Given the description of an element on the screen output the (x, y) to click on. 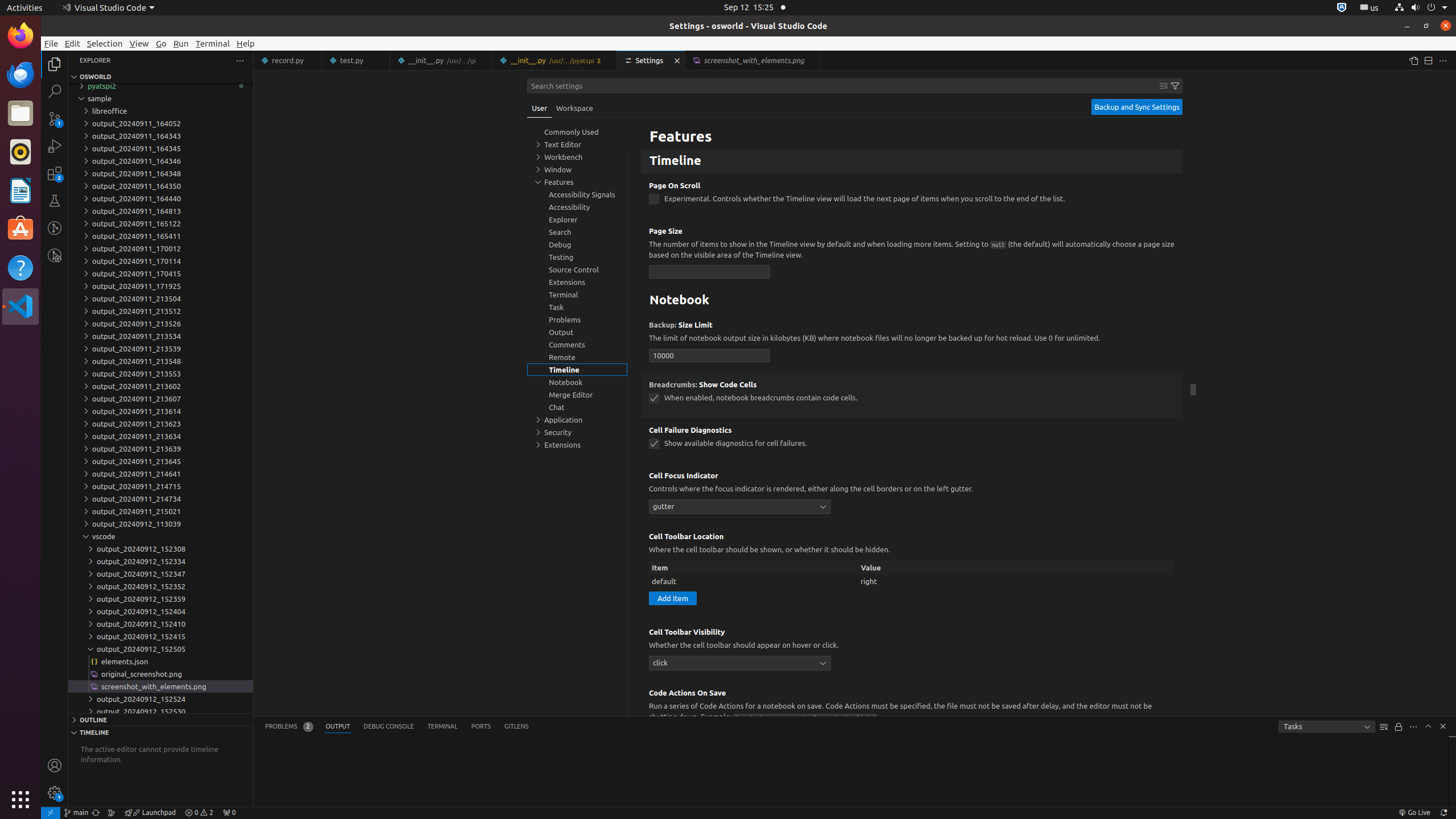
Tunnels › Access Prevent Sleep. Setting value retained when switching profiles. Prevent this computer from sleeping when remote tunnel access is turned on.  Element type: tree-item (911, 126)
rocket gitlens-unplug Launchpad, GitLens Launchpad ᴘʀᴇᴠɪᴇᴡ    &mdash;    [$(question)](command:gitlens.launchpad.indicator.action?%22info%22 "What is this?") [$(gear)](command:workbench.action.openSettings?%22gitlens.launchpad%22 "Settings")  |  [$(circle-slash) Hide](command:gitlens.launchpad.indicator.action?%22hide%22 "Hide") --- [Launchpad](command:gitlens.launchpad.indicator.action?%info%22 "Learn about Launchpad") organizes your pull requests into actionable groups to help you focus and keep your team unblocked. It's always accessible using the `GitLens: Open Launchpad` command from the Command Palette. --- [Connect an integration](command:gitlens.showLaunchpad?%7B%22source%22%3A%22launchpad-indicator%22%7D "Connect an integration") to get started. Element type: push-button (150, 812)
notebook.backup.sizeLimit Element type: spin-button (709, 354)
output_20240911_214641 Element type: tree-item (160, 473)
output_20240911_164350 Element type: tree-item (160, 185)
